Given the description of an element on the screen output the (x, y) to click on. 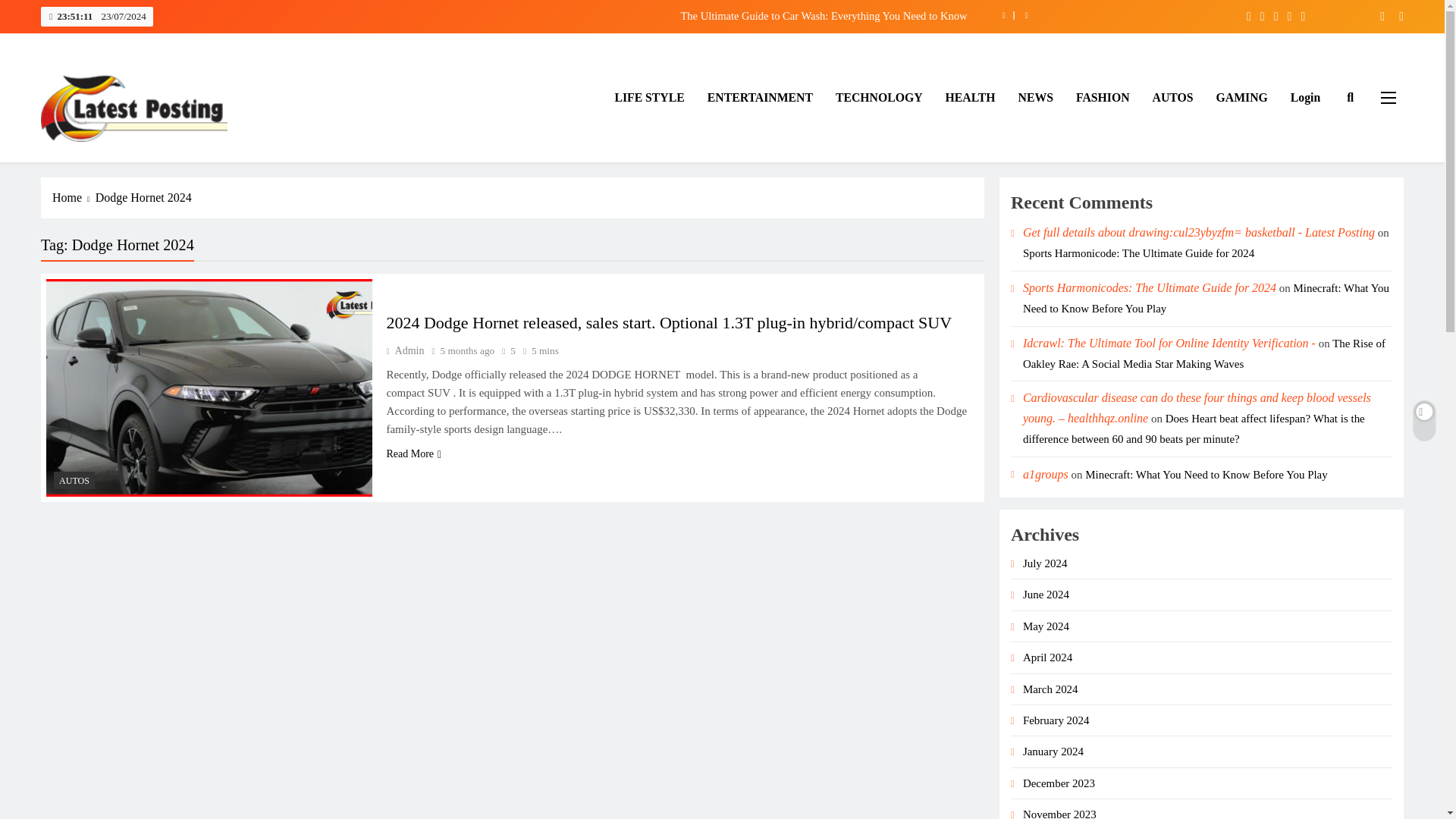
The Ultimate Guide to Car Wash: Everything You Need to Know (639, 15)
5 months ago (468, 350)
FASHION (1102, 96)
ENTERTAINMENT (759, 96)
Random News (1395, 16)
HEALTH (970, 96)
AUTOS (73, 479)
Home (74, 198)
GAMING (1242, 96)
Login (1305, 96)
LIFE STYLE (648, 96)
Newsletter (1376, 16)
Latest Posting (112, 163)
TECHNOLOGY (879, 96)
Admin (404, 350)
